Given the description of an element on the screen output the (x, y) to click on. 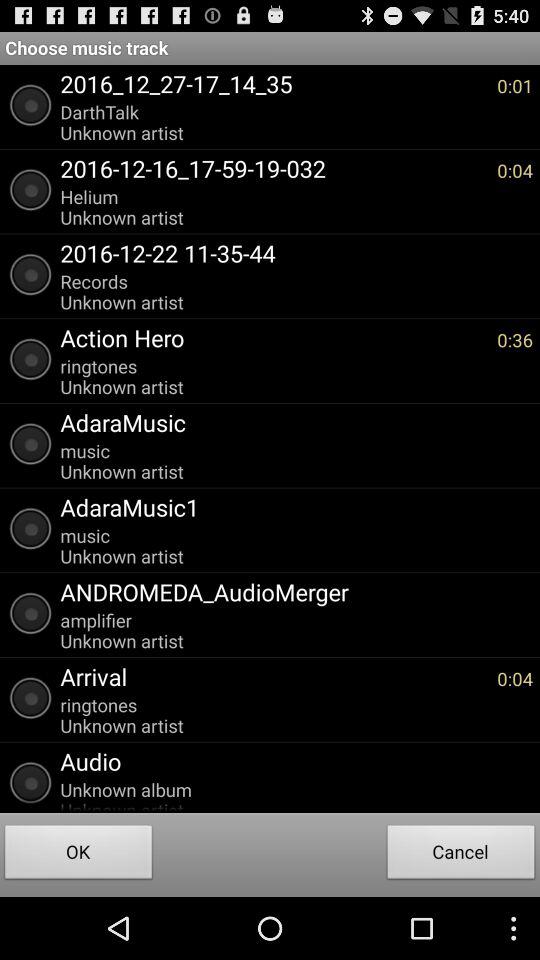
turn off the icon below unknown album unknown app (461, 854)
